Given the description of an element on the screen output the (x, y) to click on. 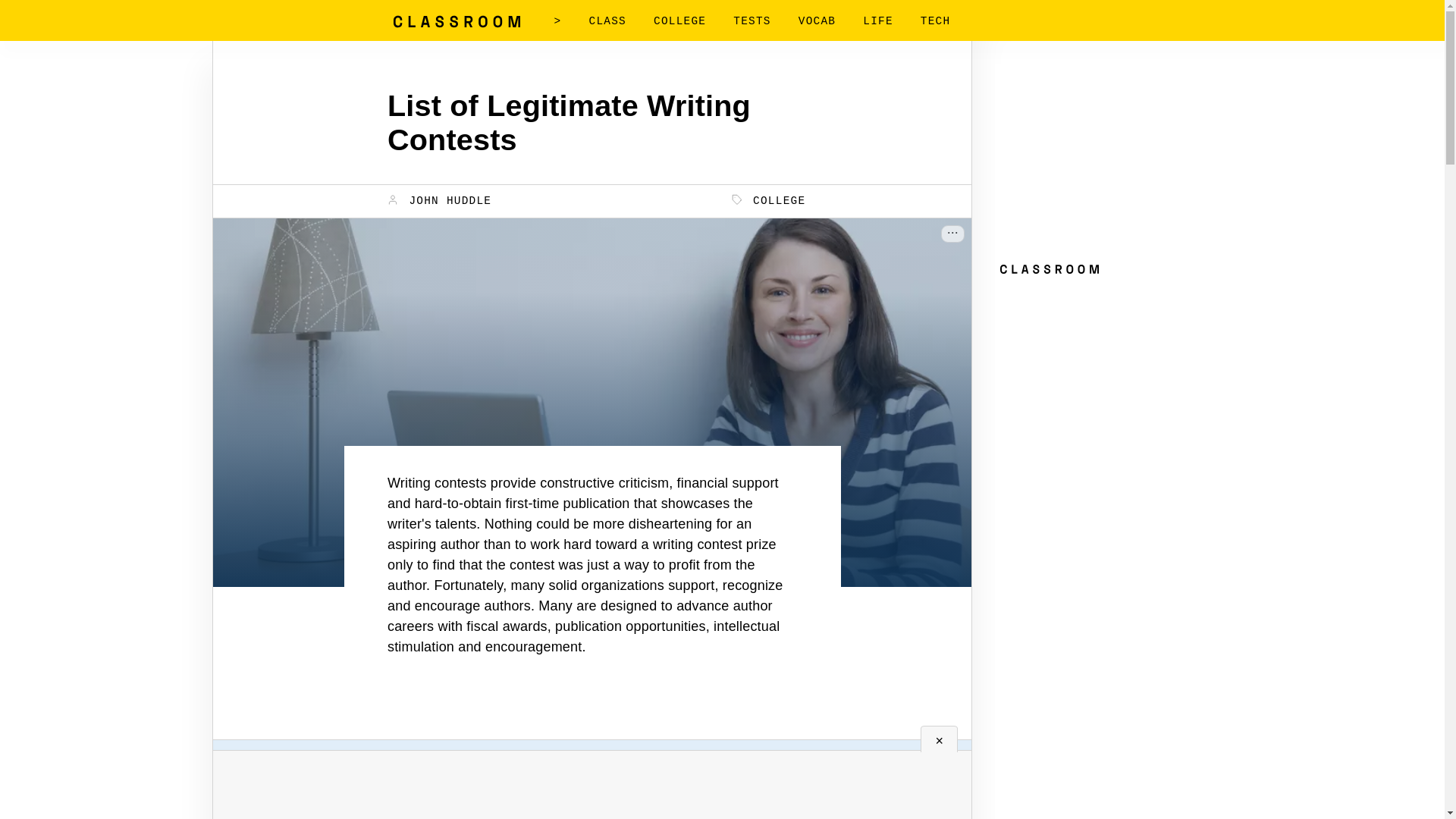
VOCAB (816, 21)
TESTS (751, 21)
TECH (935, 21)
COLLEGE (679, 21)
CLASS (607, 21)
LIFE (878, 21)
COLLEGE (769, 200)
